Given the description of an element on the screen output the (x, y) to click on. 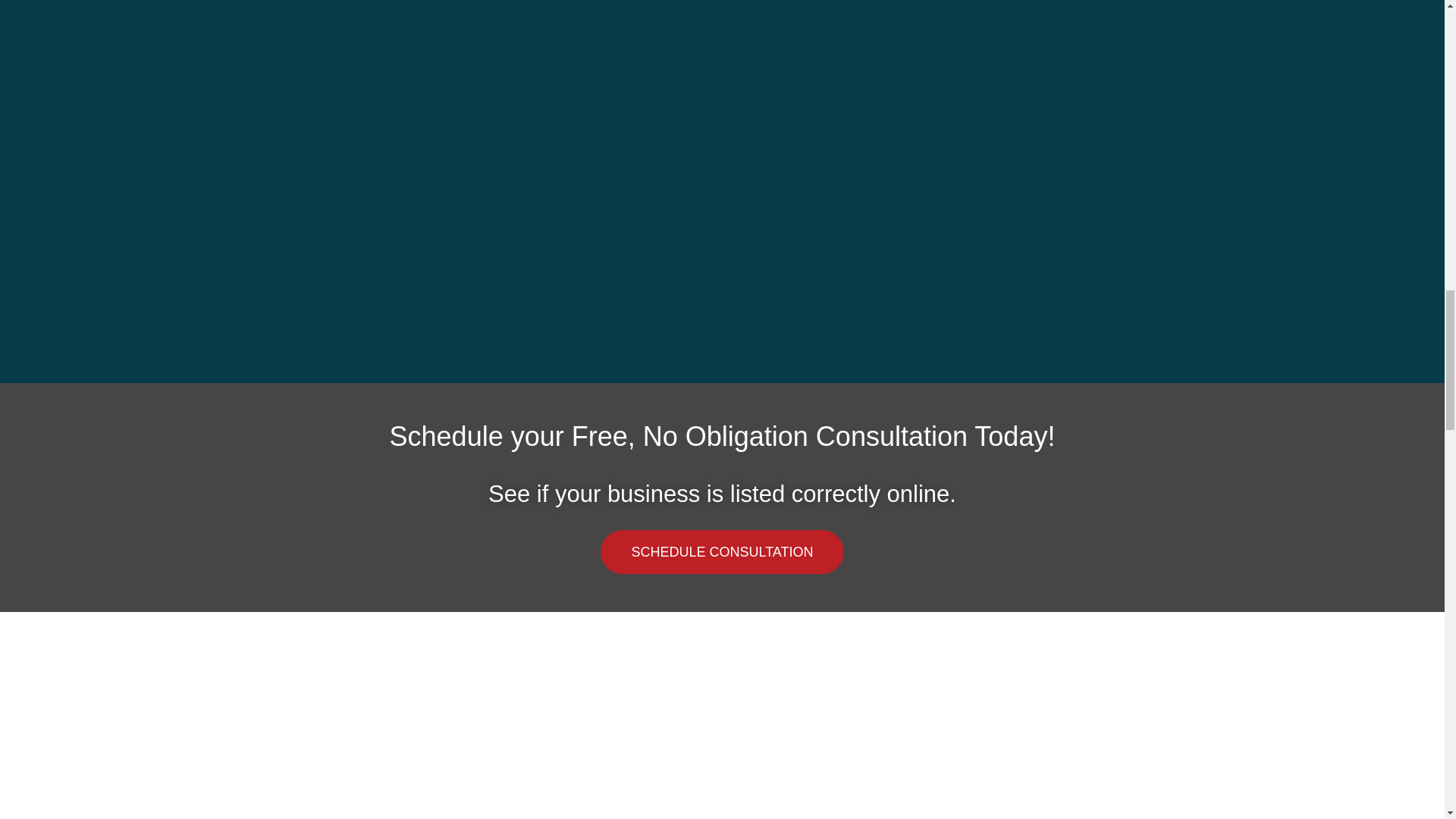
SCHEDULE CONSULTATION (721, 551)
